Given the description of an element on the screen output the (x, y) to click on. 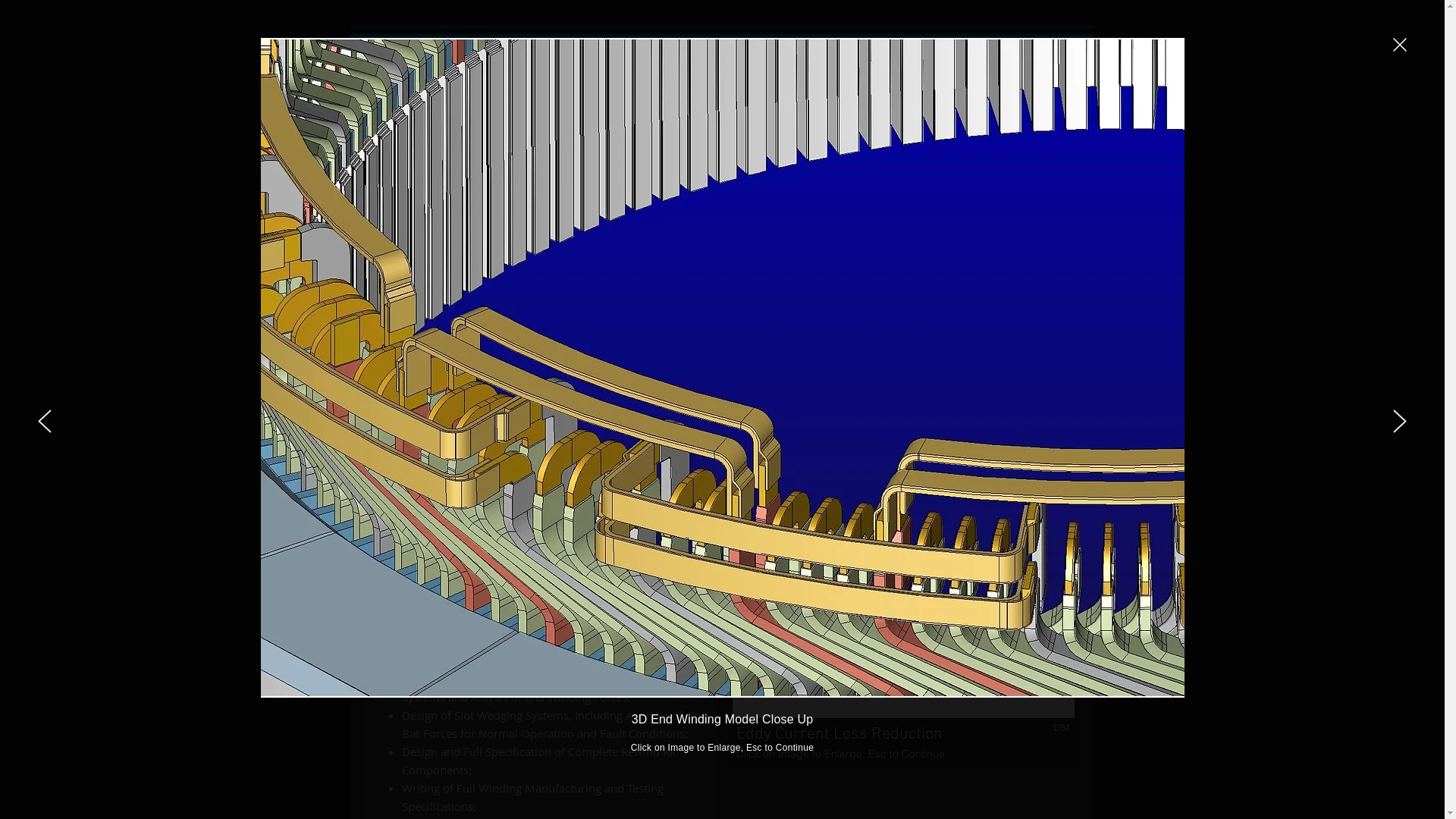
HOME Element type: text (648, 96)
SERVICES Element type: text (900, 96)
ABOUT Element type: text (774, 96)
GMECS_Logo_HI RES.jpg Element type: hover (467, 108)
CONTACT Element type: text (1024, 96)
